Given the description of an element on the screen output the (x, y) to click on. 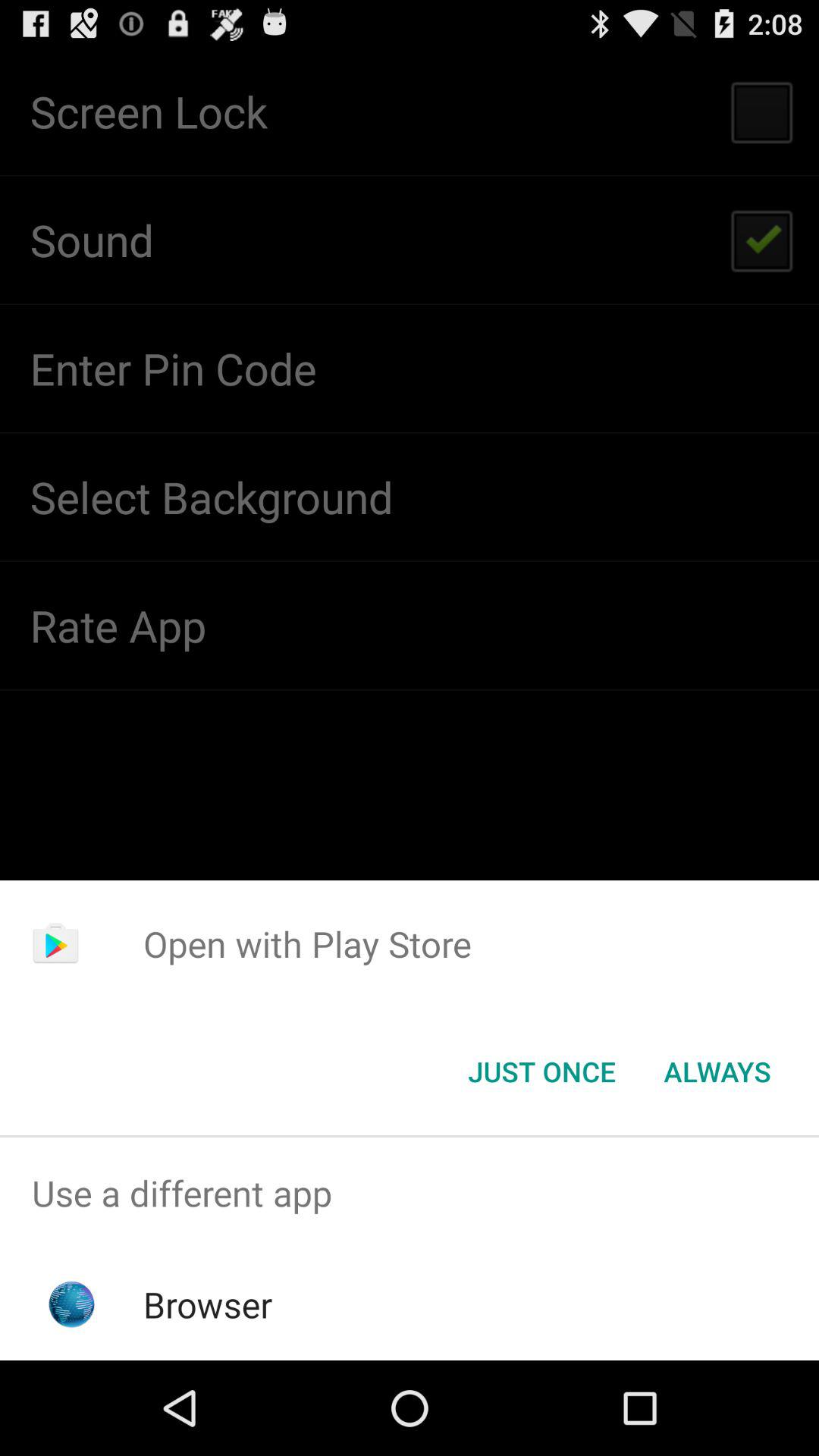
launch use a different (409, 1192)
